Given the description of an element on the screen output the (x, y) to click on. 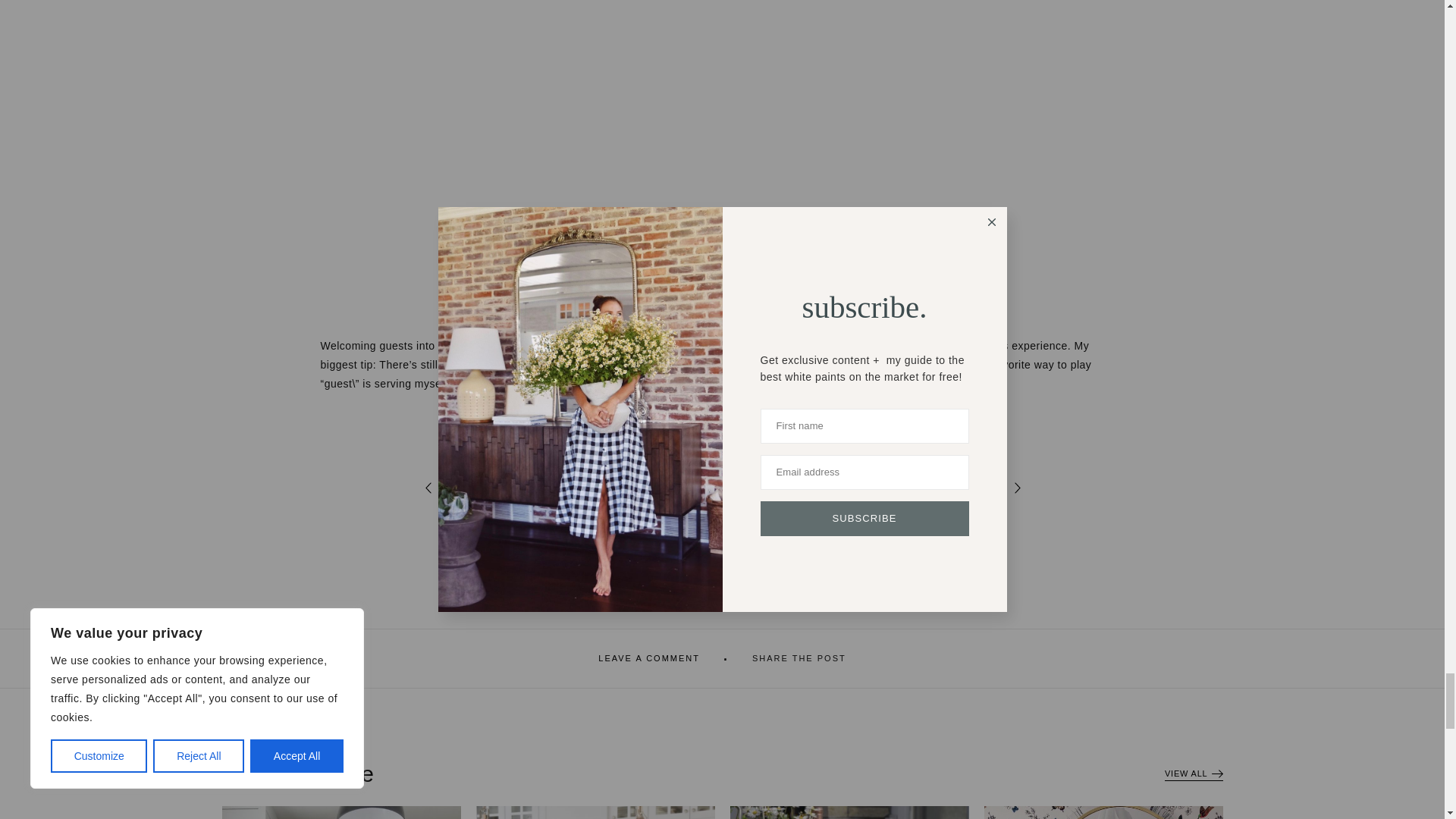
LEAVE A COMMENT (649, 658)
